Given the description of an element on the screen output the (x, y) to click on. 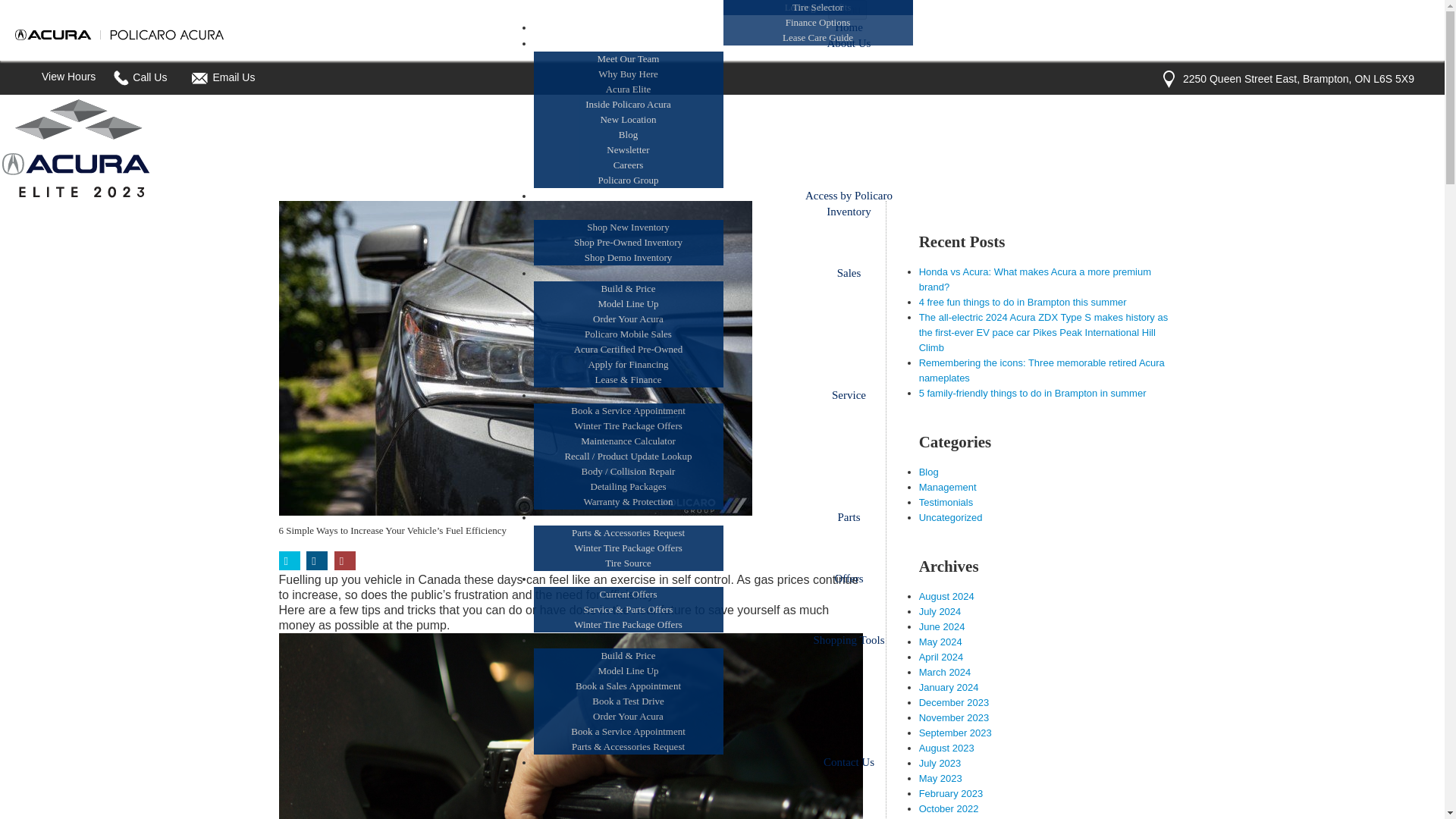
Acura 35 Years (119, 34)
Sales Mail (199, 78)
Contact No (120, 77)
Tweet this! (289, 560)
Share on Facebook. (316, 560)
